Given the description of an element on the screen output the (x, y) to click on. 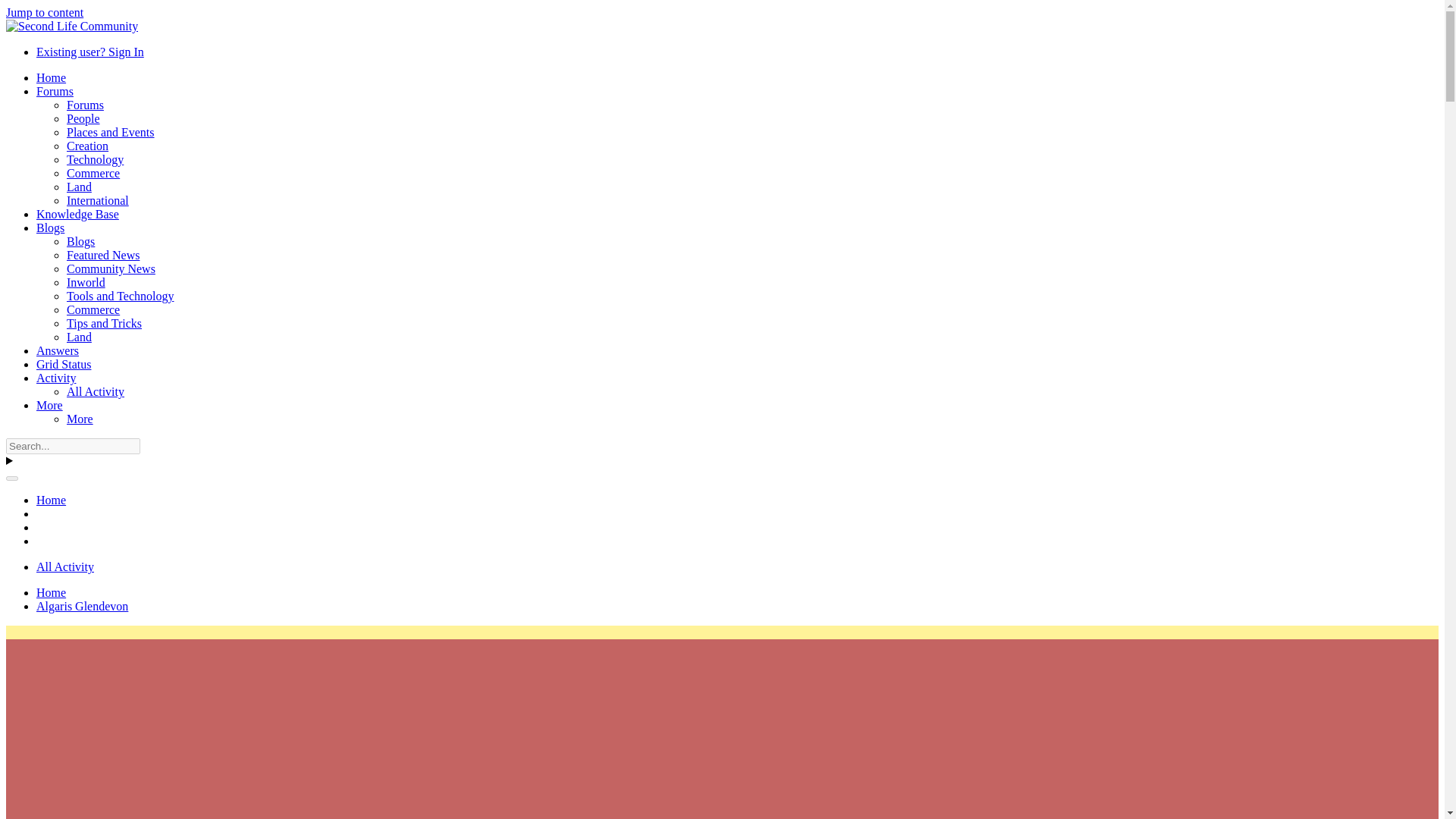
Activity (55, 377)
Home (50, 499)
Creation (86, 145)
Forums (55, 91)
Forums (84, 104)
Home (50, 592)
Land (78, 186)
Technology (94, 159)
Existing user? Sign In (90, 51)
Land (78, 336)
Answers (57, 350)
Inworld (85, 282)
Grid Status (63, 364)
More (49, 404)
Jump to content (43, 11)
